Given the description of an element on the screen output the (x, y) to click on. 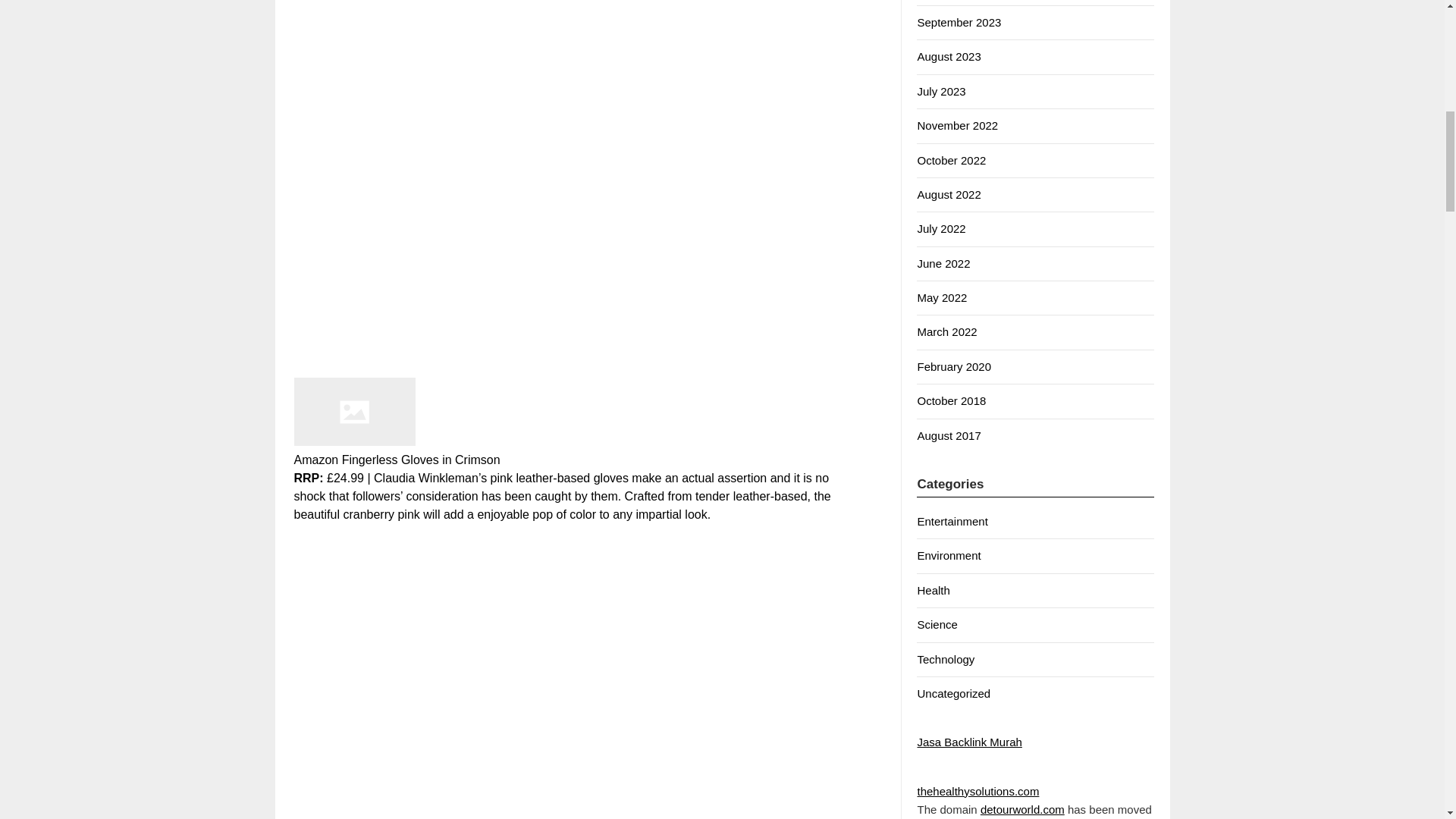
July 2023 (941, 91)
August 2023 (948, 56)
July 2022 (941, 228)
September 2023 (959, 21)
May 2022 (941, 297)
June 2022 (943, 263)
August 2022 (948, 194)
October 2022 (951, 160)
November 2022 (957, 124)
